Given the description of an element on the screen output the (x, y) to click on. 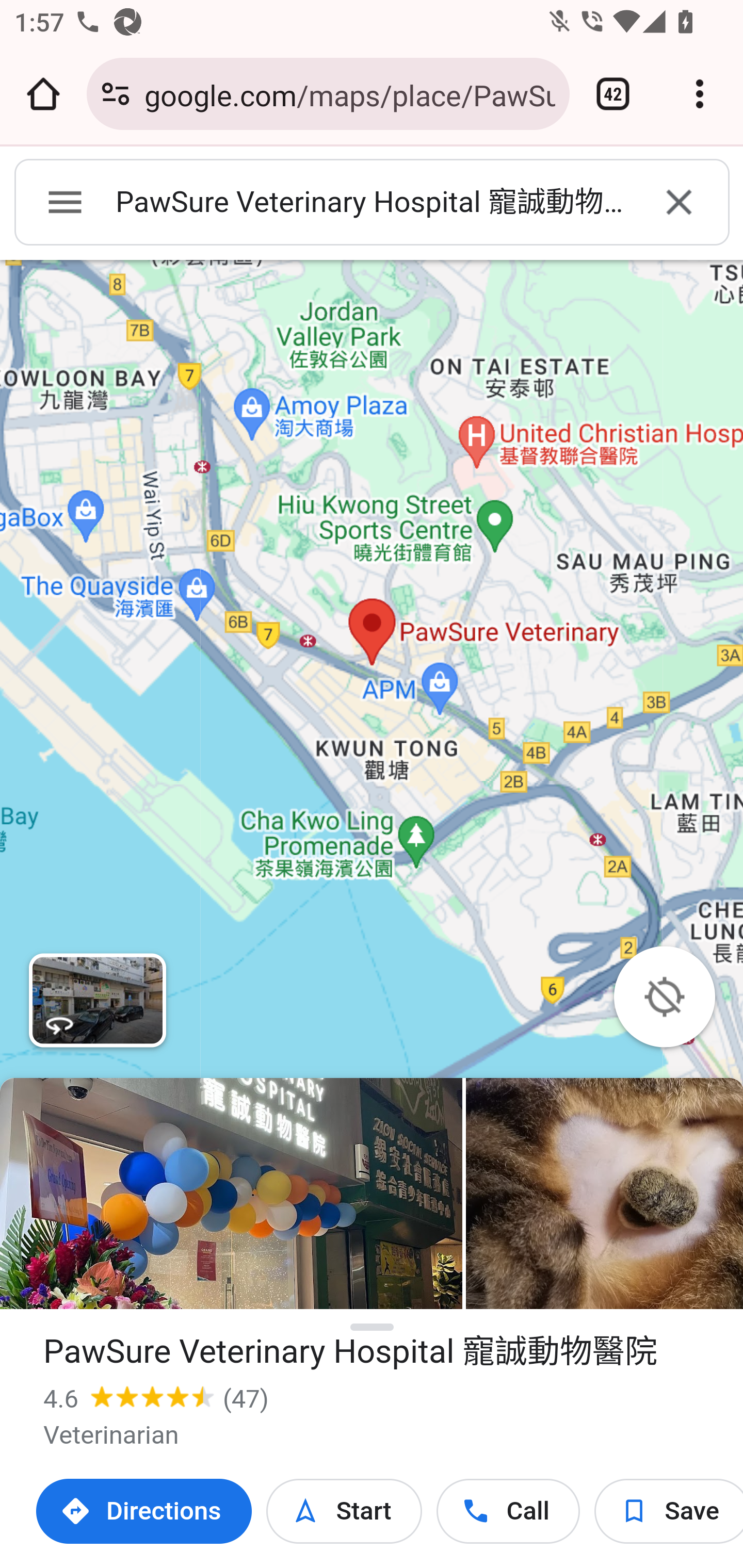
Open the home page (43, 93)
Connection is secure (115, 93)
Switch or close tabs (612, 93)
Customize and control Google Chrome (699, 93)
Photo 1 of 10 (231, 1193)
Photo 2 of 10 (604, 1193)
Show details (372, 1327)
Directions to PawSure Veterinary Hospital 寵誠動物醫院 (144, 1511)
Start (343, 1511)
Call PawSure Veterinary Hospital 寵誠動物醫院  Call (507, 1511)
